Given the description of an element on the screen output the (x, y) to click on. 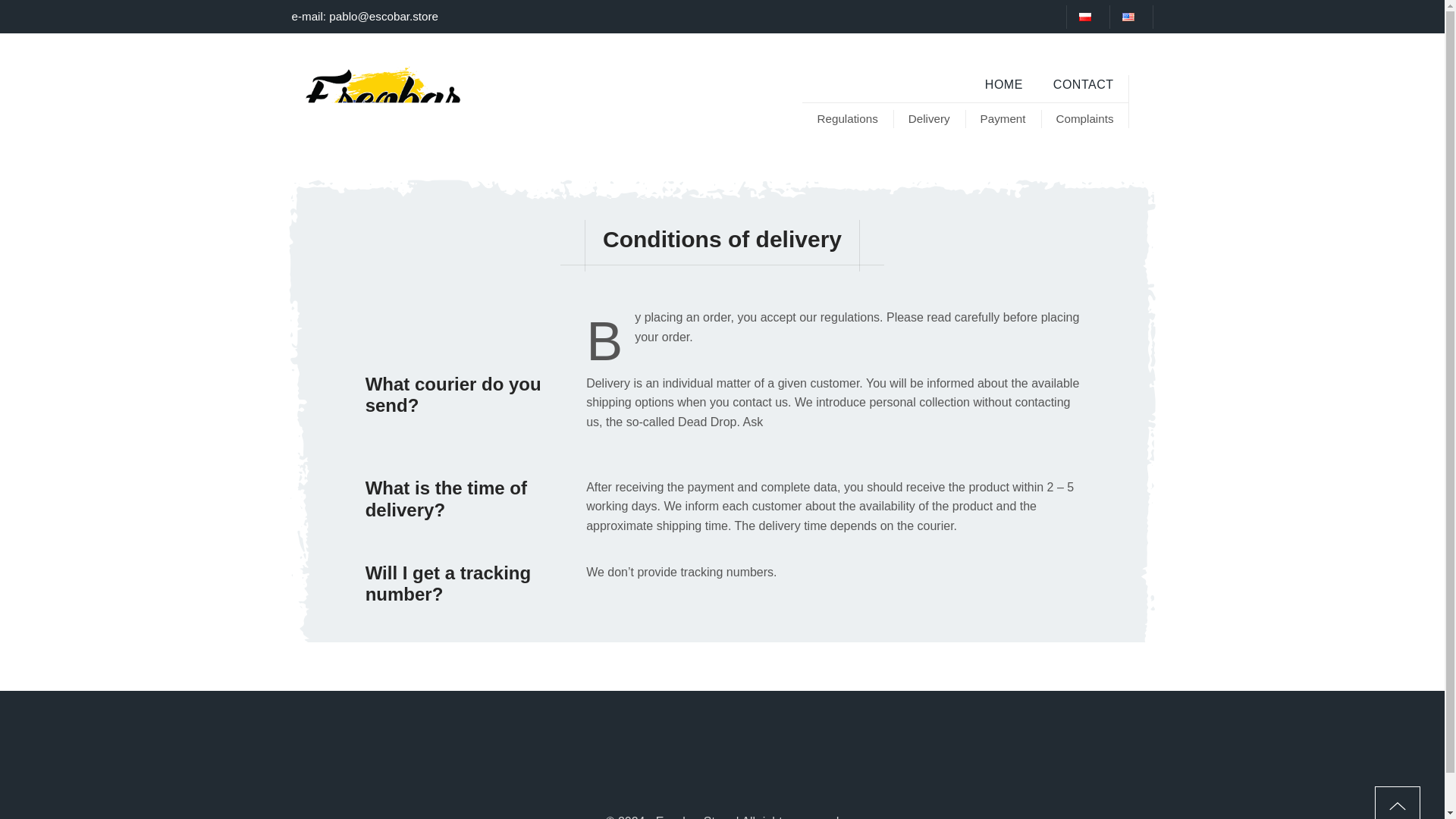
Delivery (929, 118)
HOME (1003, 84)
Escobar Store (382, 101)
CONTACT (1083, 84)
Payment (1003, 118)
Regulations (847, 118)
Complaints (1085, 118)
